Given the description of an element on the screen output the (x, y) to click on. 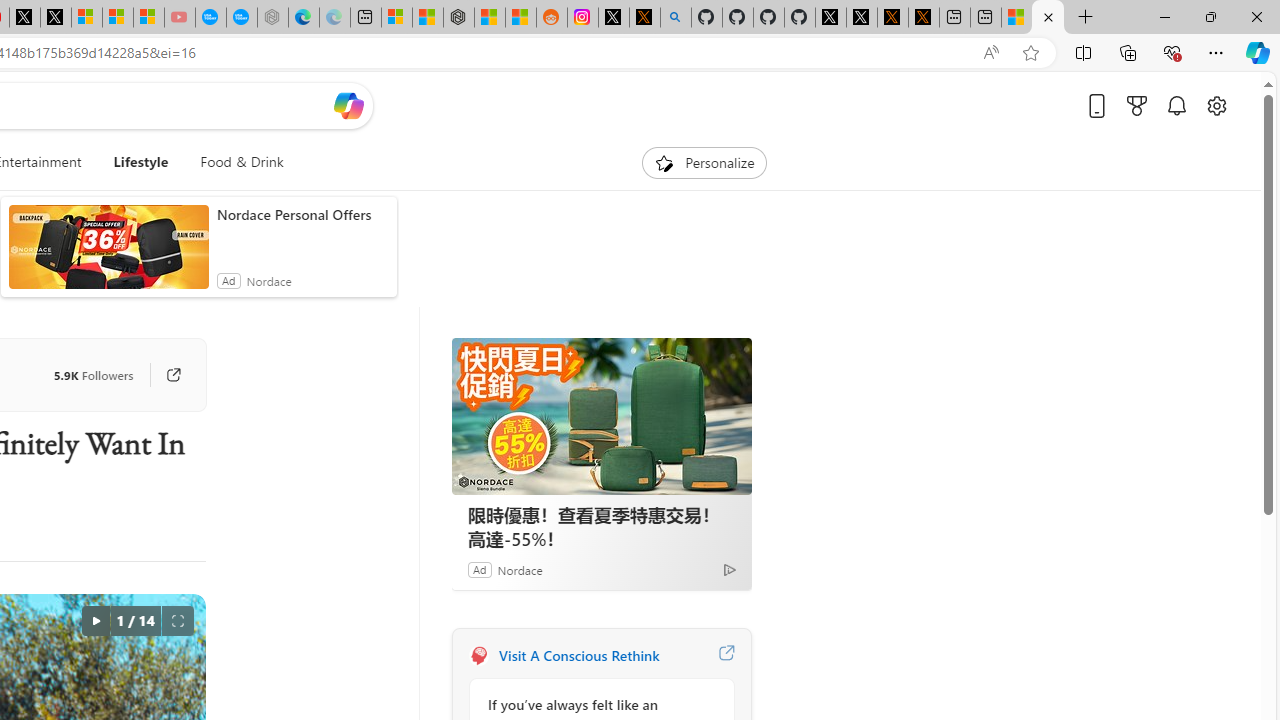
help.x.com | 524: A timeout occurred (644, 17)
GitHub (@github) / X (861, 17)
Lifestyle (140, 162)
A Conscious Rethink (478, 655)
Shanghai, China Weather trends | Microsoft Weather (520, 17)
Go to publisher's site (163, 374)
Personalize (703, 162)
